Given the description of an element on the screen output the (x, y) to click on. 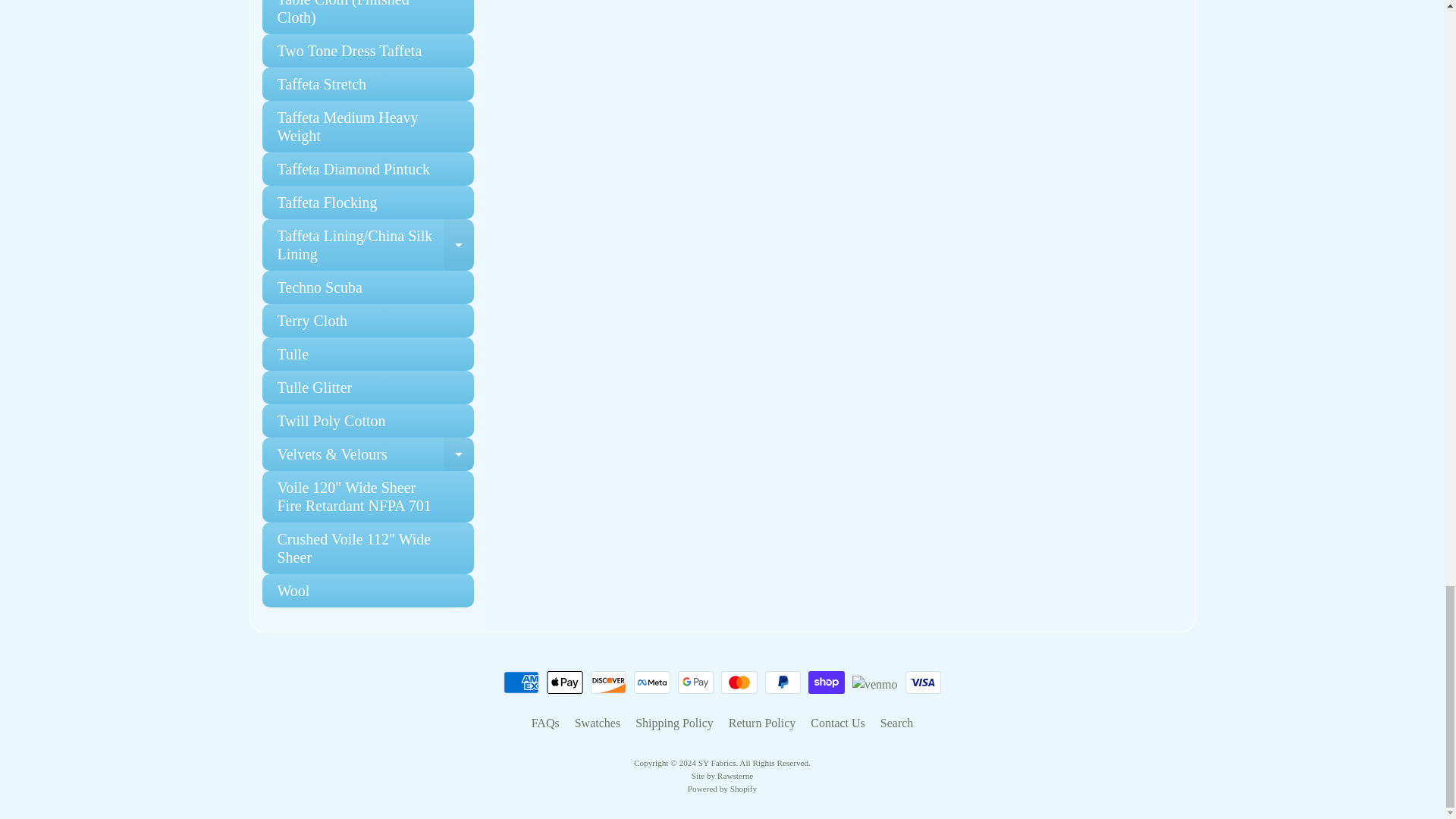
Shopify theme by Rawsterne (721, 775)
